Given the description of an element on the screen output the (x, y) to click on. 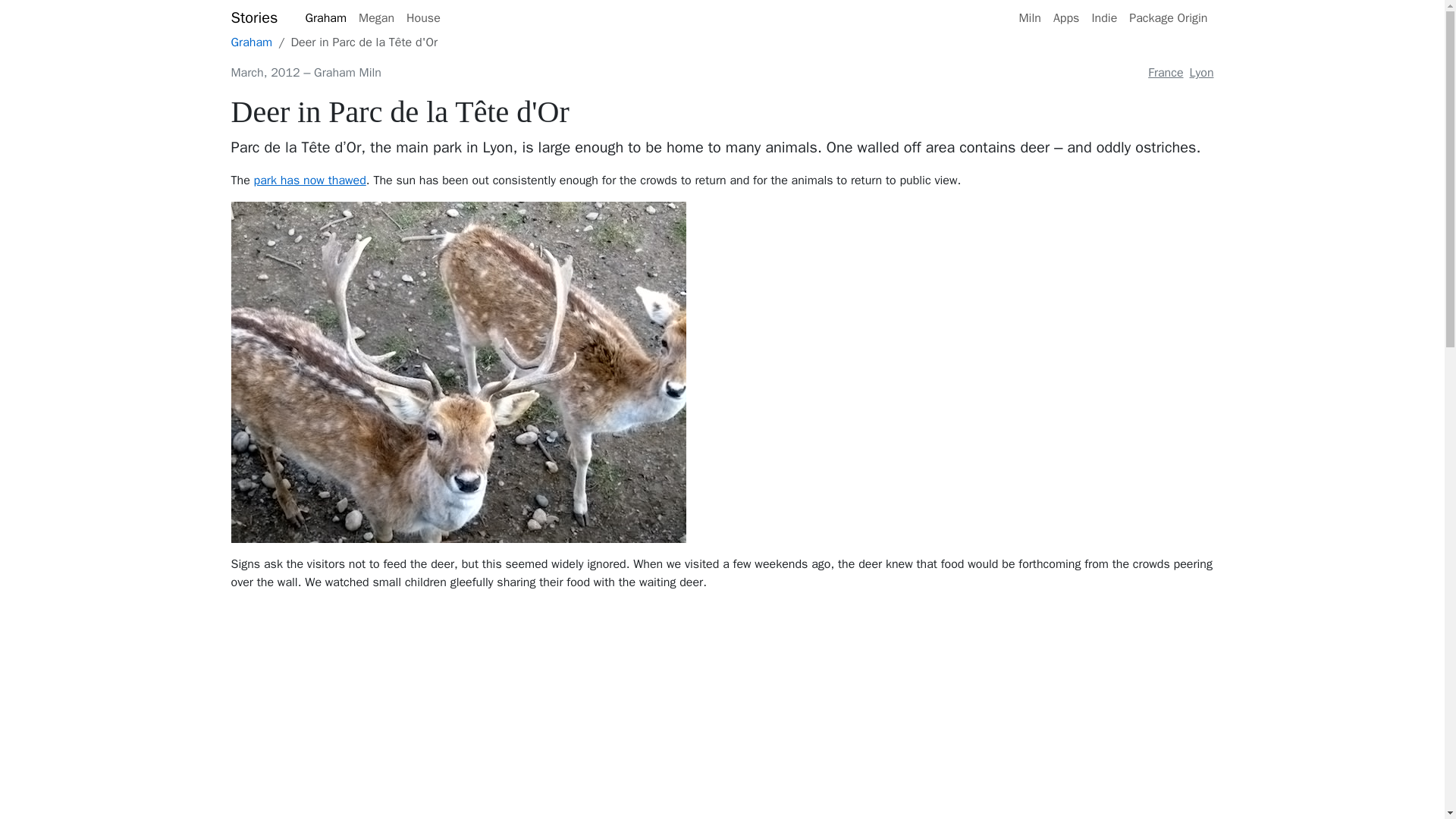
Apps (1066, 18)
House (423, 18)
Miln (1028, 18)
Graham (325, 18)
Package Origin (1167, 18)
Graham (251, 42)
France (1165, 72)
Stories (254, 18)
